Given the description of an element on the screen output the (x, y) to click on. 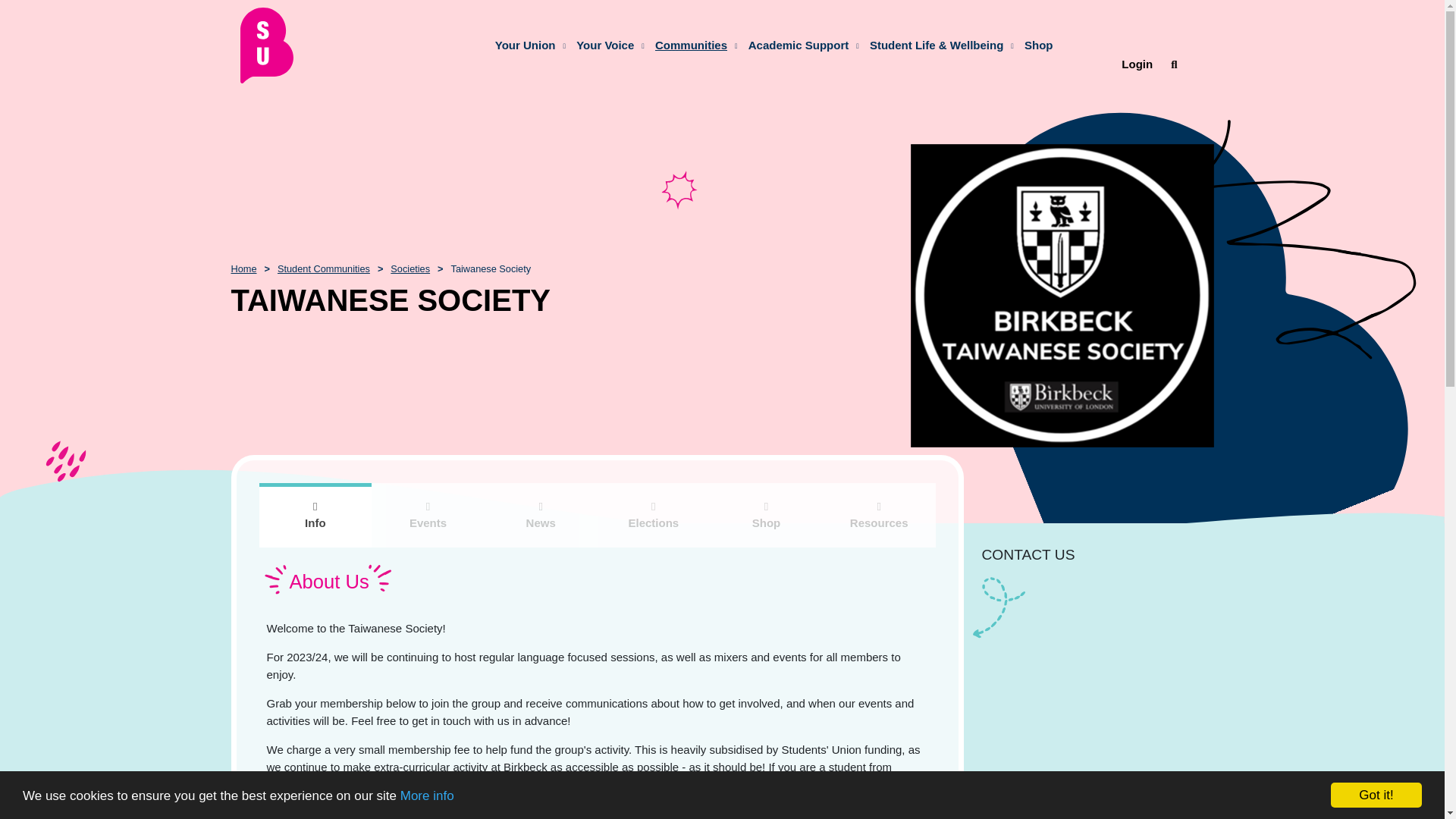
Your Voice (605, 44)
Your Union (529, 44)
Academic Support (799, 44)
Communities (691, 44)
